Given the description of an element on the screen output the (x, y) to click on. 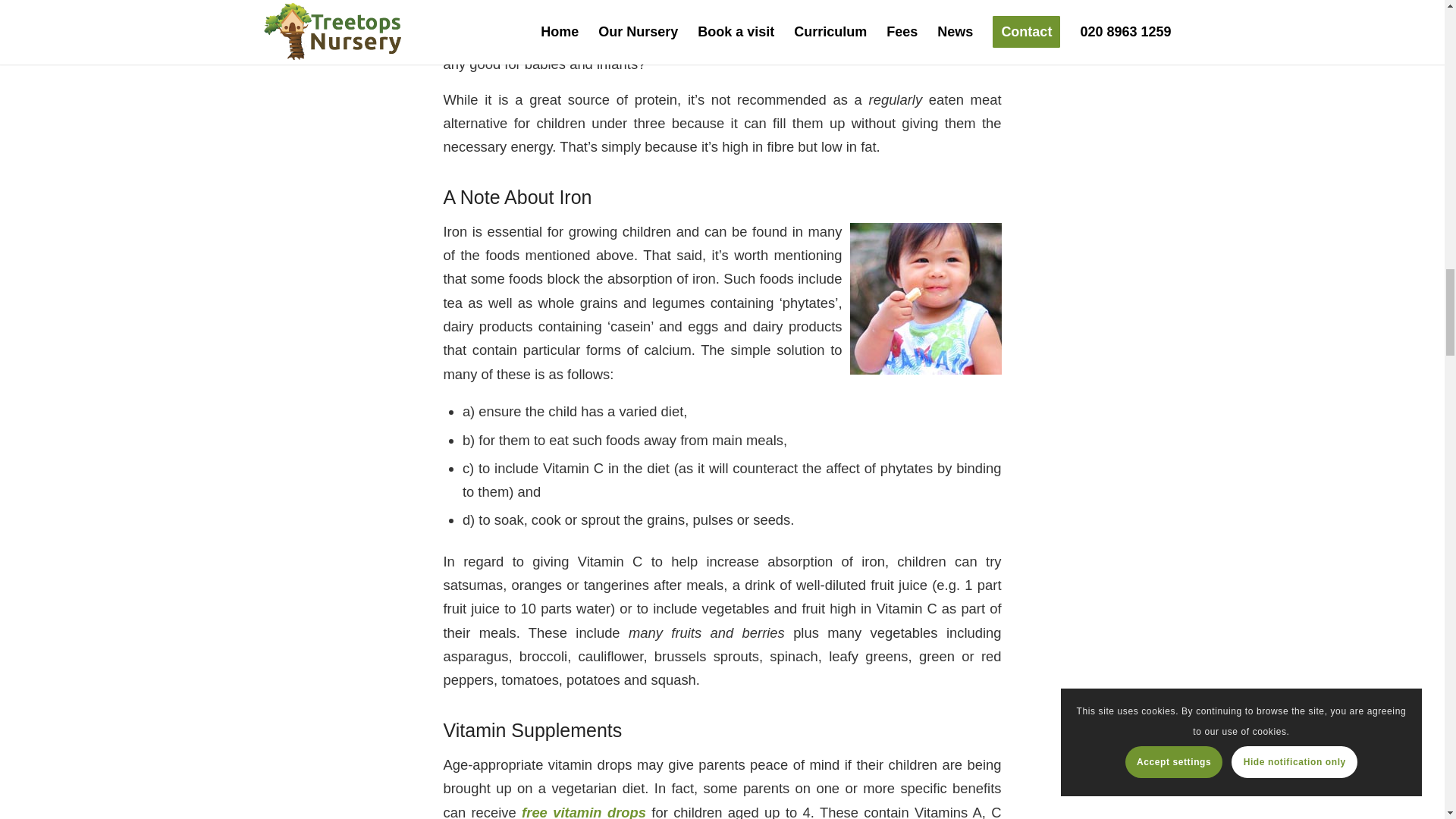
free vitamin drops (583, 811)
